Given the description of an element on the screen output the (x, y) to click on. 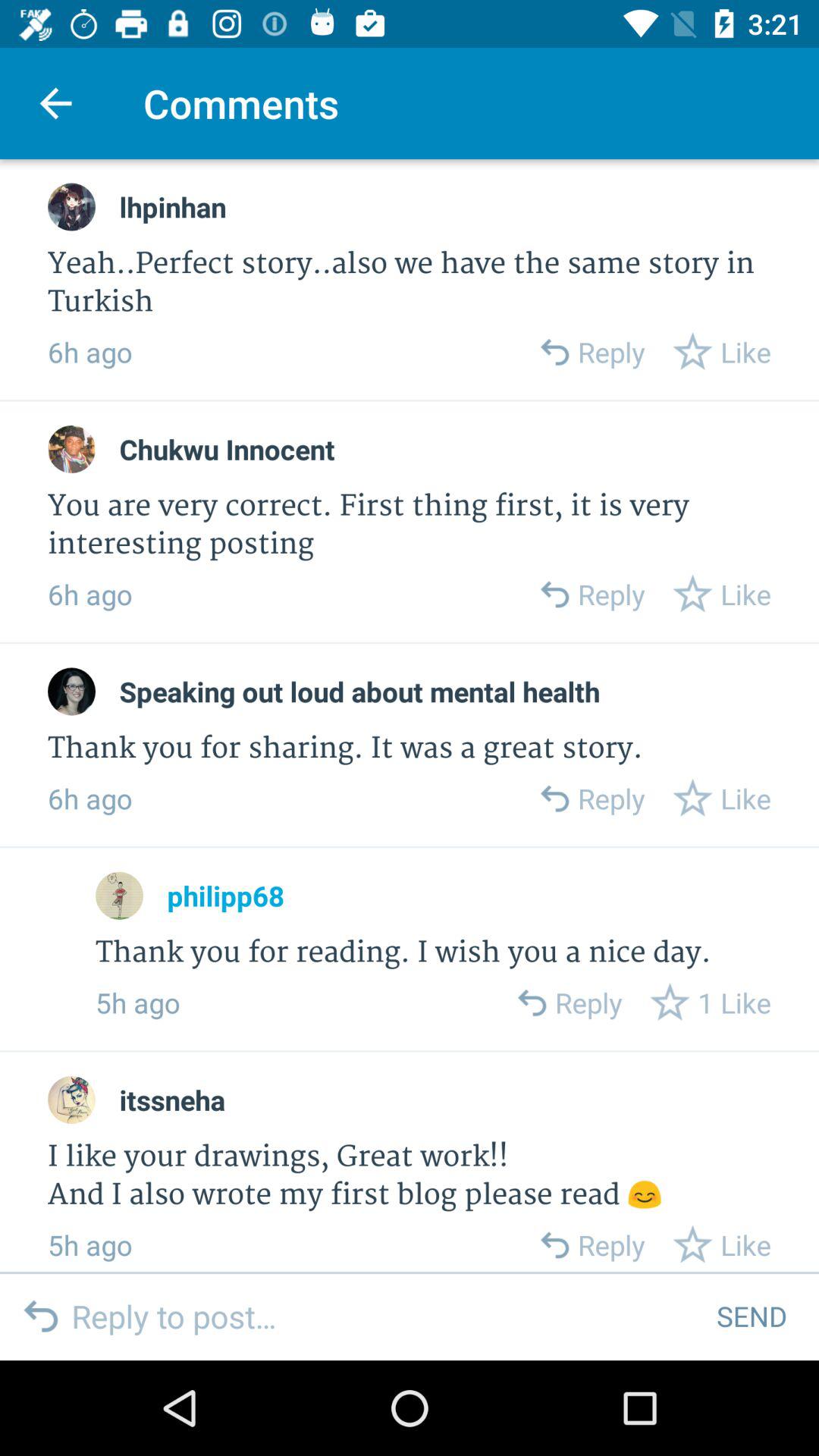
select yeah perfect story (409, 283)
